Given the description of an element on the screen output the (x, y) to click on. 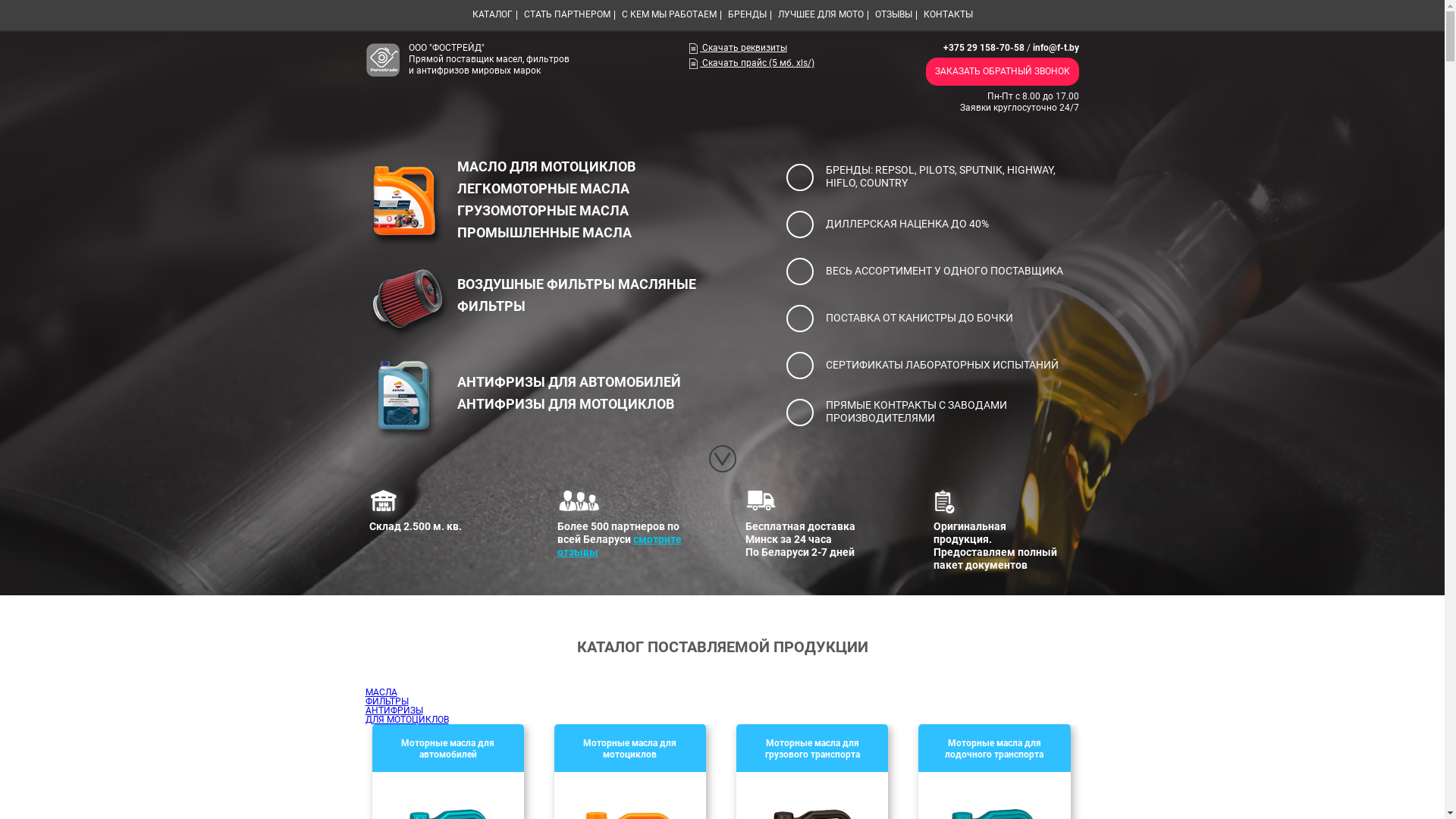
+375 29 158-70-58 Element type: text (983, 47)
info@f-t.by Element type: text (1055, 47)
